Given the description of an element on the screen output the (x, y) to click on. 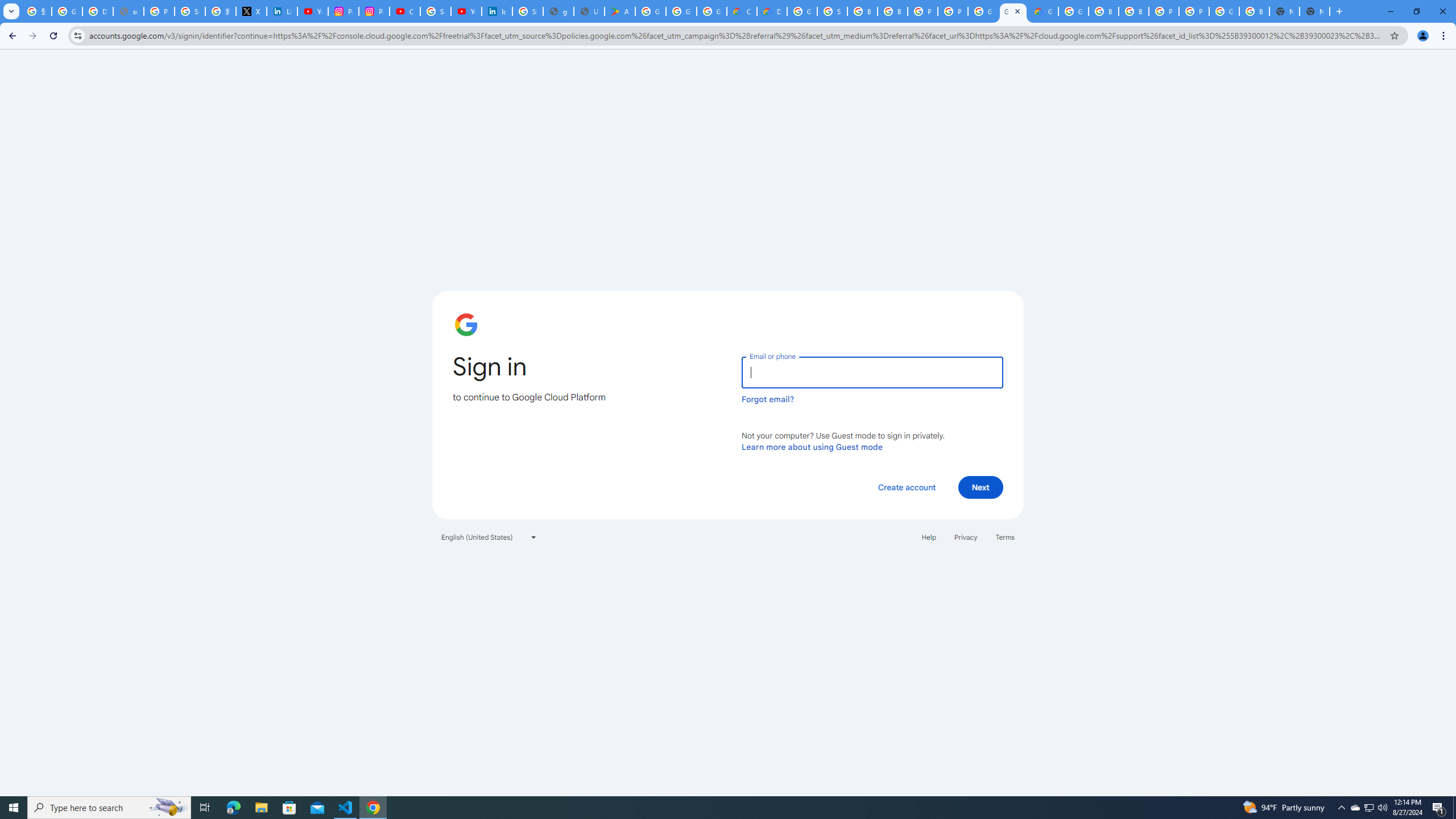
Google Workspace - Specific Terms (681, 11)
Sign in - Google Accounts (434, 11)
Privacy Help Center - Policies Help (158, 11)
English (United States) (489, 536)
User Details (589, 11)
Forgot email? (767, 398)
Google Cloud Platform (1012, 11)
Browse Chrome as a guest - Computer - Google Chrome Help (862, 11)
